Given the description of an element on the screen output the (x, y) to click on. 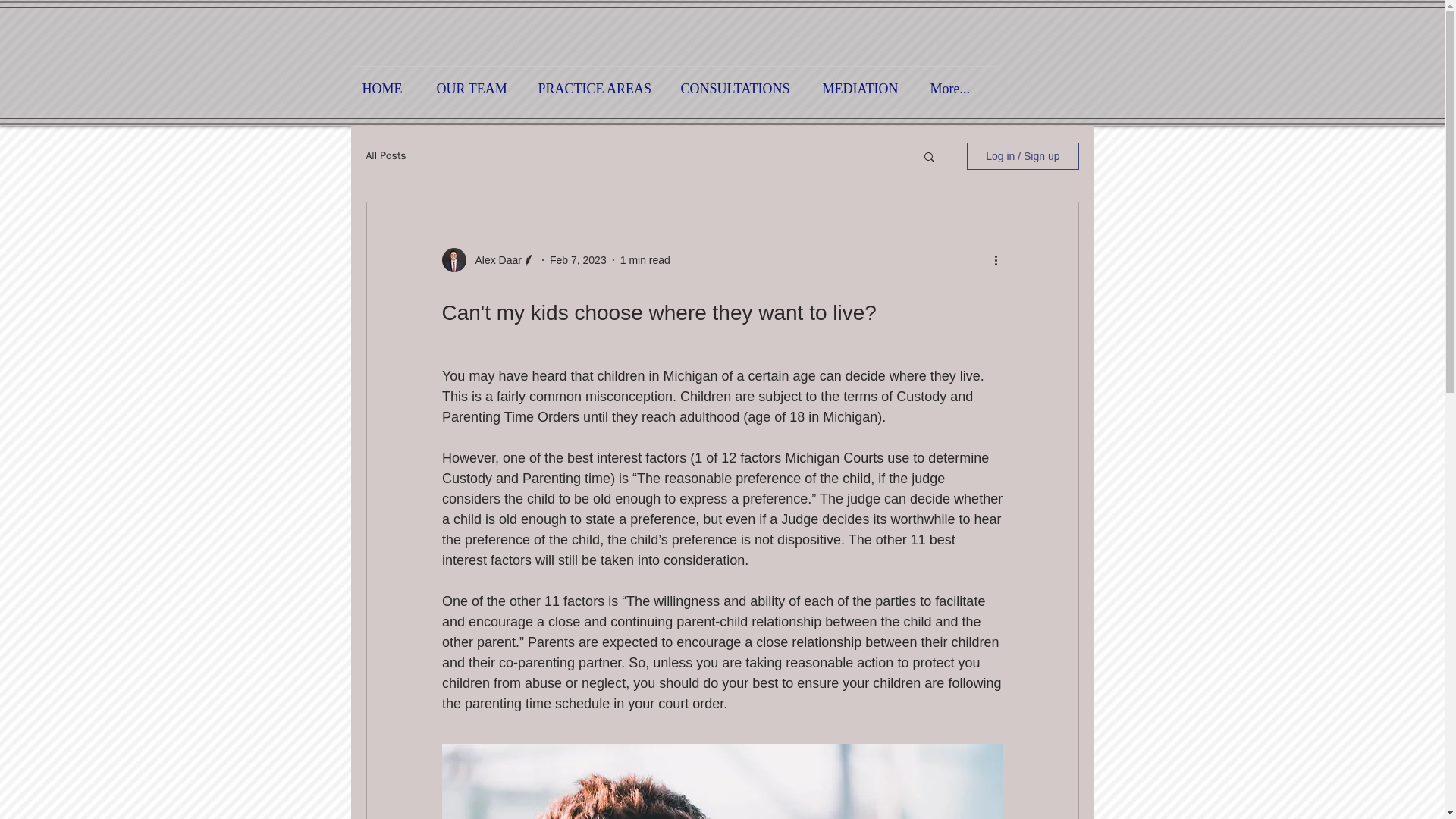
PRACTICE AREAS (596, 88)
Alex Daar (493, 259)
MEDIATION (864, 88)
Feb 7, 2023 (578, 259)
All Posts (385, 155)
1 min read (644, 259)
HOME (387, 88)
OUR TEAM (475, 88)
CONSULTATIONS (739, 88)
